Given the description of an element on the screen output the (x, y) to click on. 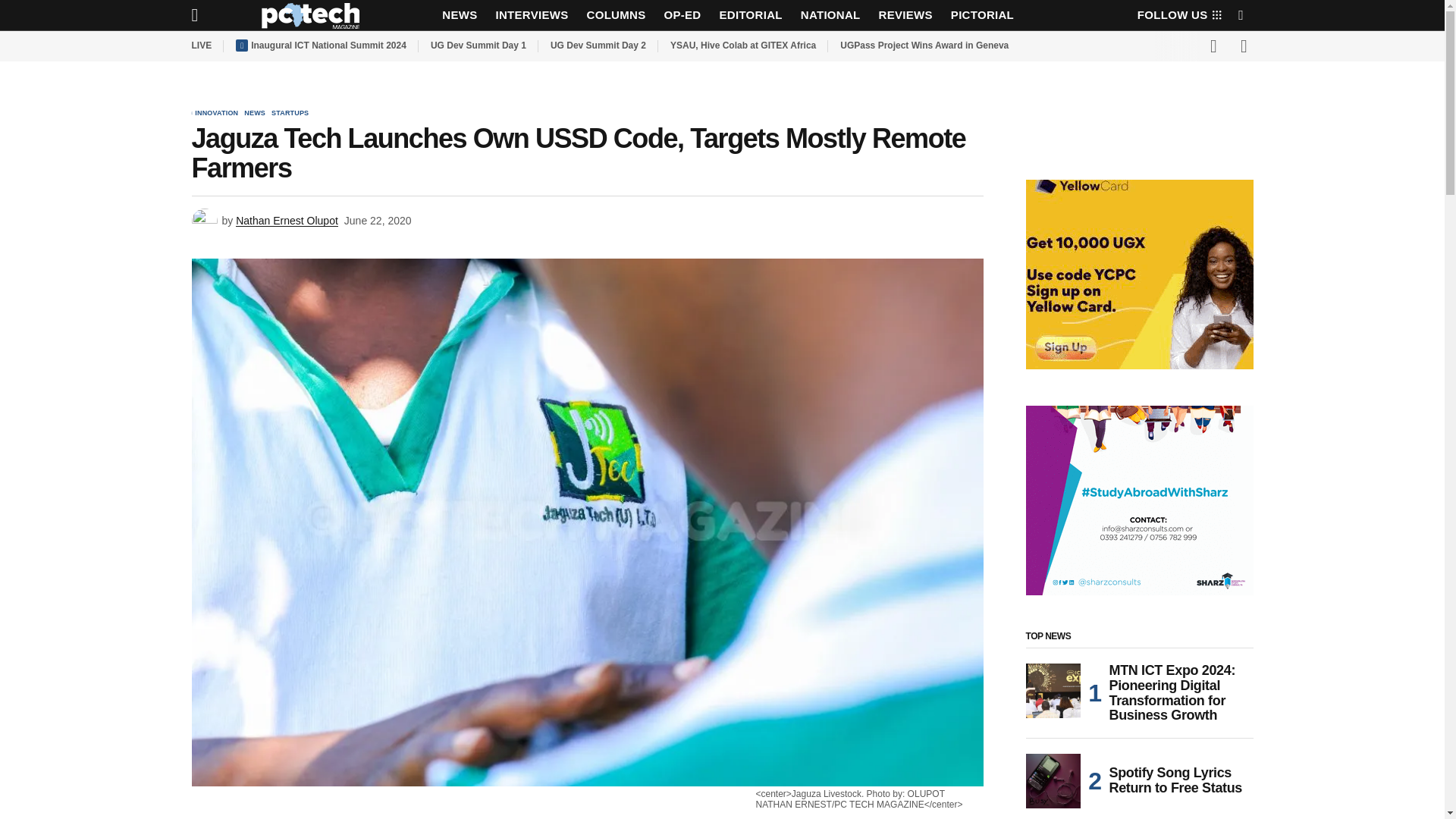
NEWS (459, 15)
